Given the description of an element on the screen output the (x, y) to click on. 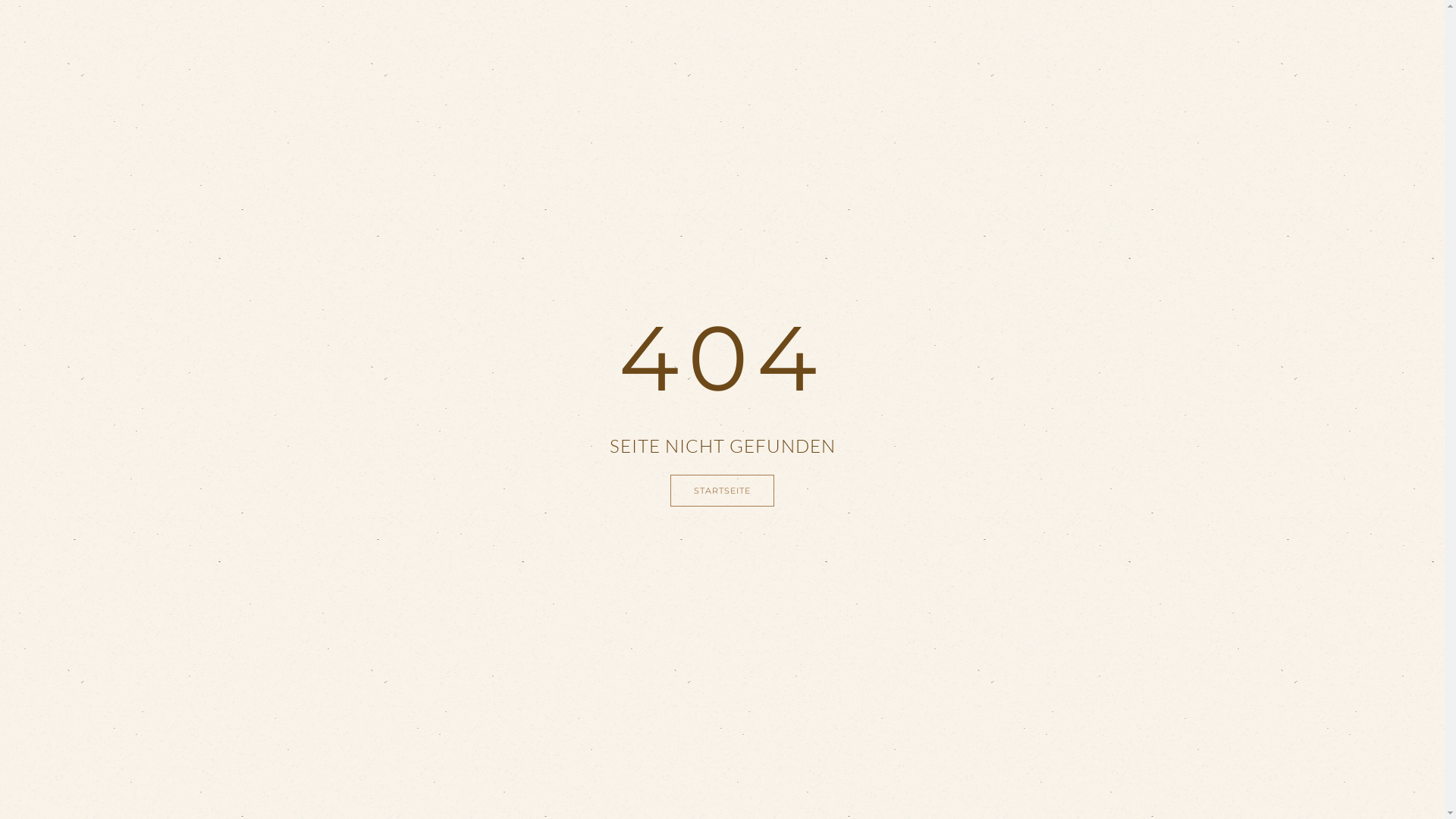
STARTSEITE Element type: text (722, 490)
